Given the description of an element on the screen output the (x, y) to click on. 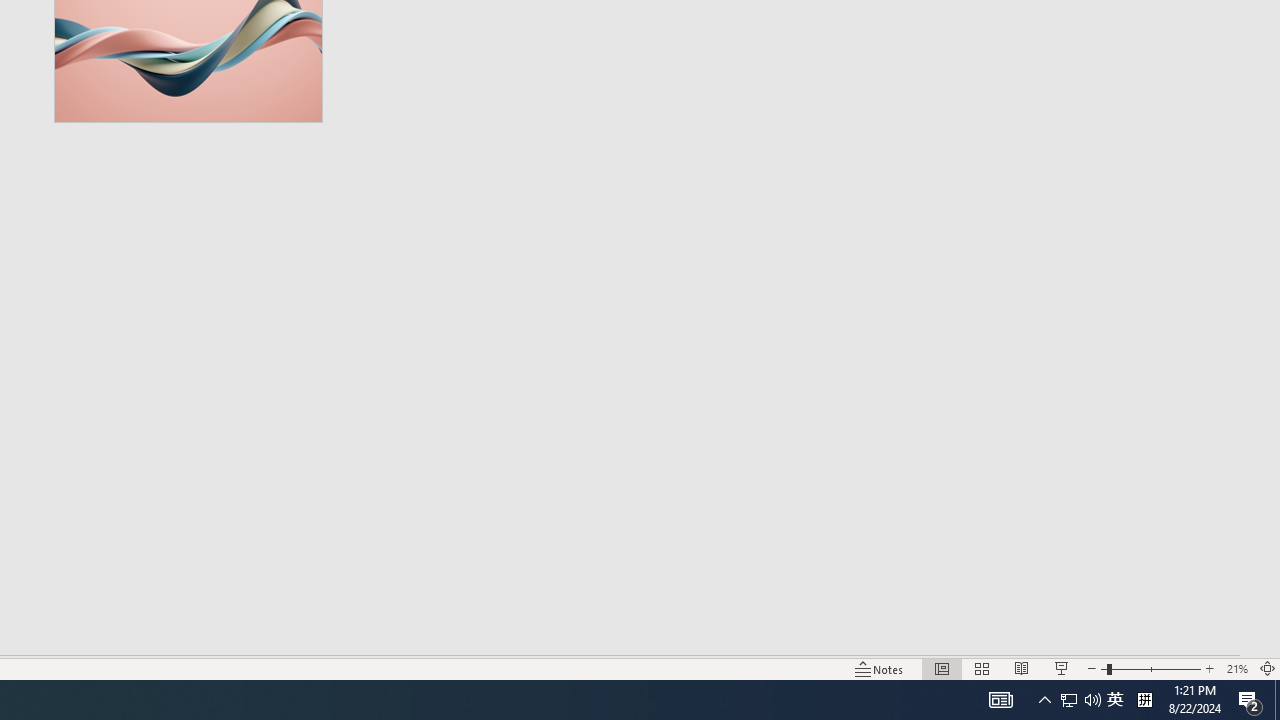
Zoom 21% (1236, 668)
